Given the description of an element on the screen output the (x, y) to click on. 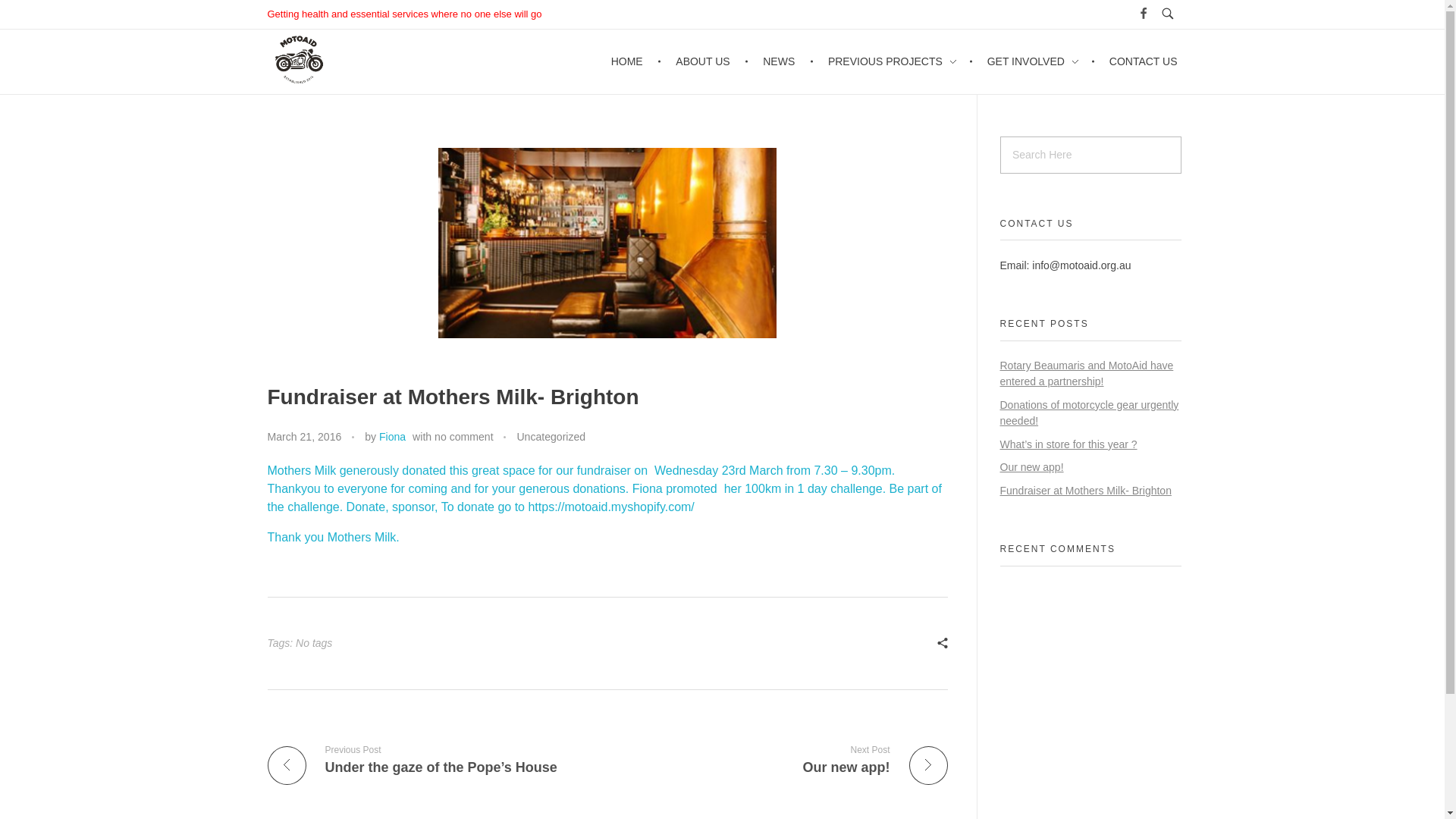
GET INVOLVED Element type: text (1033, 61)
Search Element type: text (42, 13)
Fundraiser at Mothers Milk- Brighton Element type: text (1084, 490)
Our new app! Element type: text (1031, 467)
Uncategorized Element type: text (550, 437)
HOME Element type: text (636, 61)
Fiona Element type: text (392, 436)
ABOUT US Element type: text (705, 61)
Rotary Beaumaris and MotoAid have entered a partnership! Element type: text (1086, 373)
CONTACT US Element type: text (1135, 61)
NEWS Element type: text (781, 61)
Thank you Mothers Milk. Element type: text (332, 536)
PREVIOUS PROJECTS Element type: text (893, 61)
Donations of motorcycle gear urgently needed! Element type: text (1088, 412)
Next Post
Our new app! Element type: text (783, 759)
info@motoaid.org.au Element type: text (1081, 265)
